Given the description of an element on the screen output the (x, y) to click on. 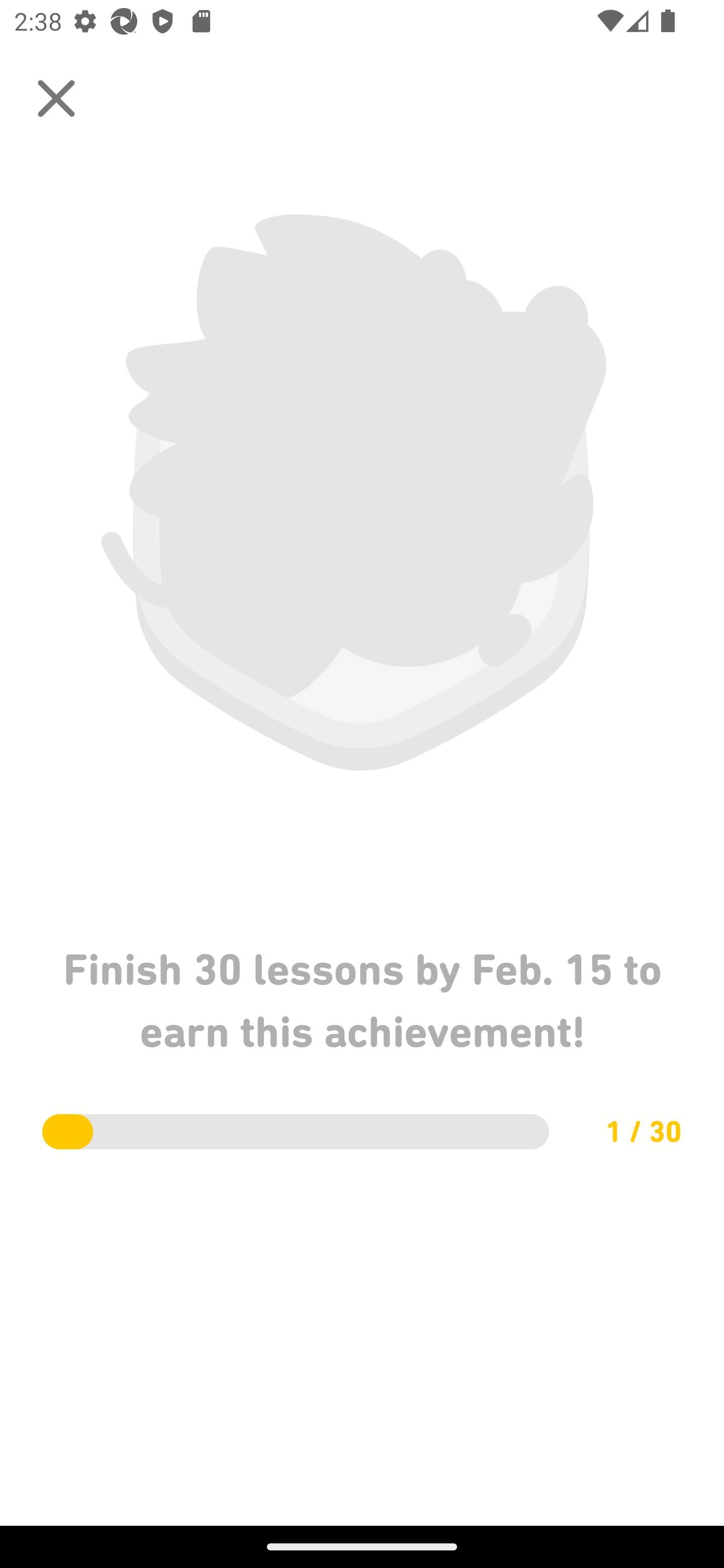
Back (56, 98)
